Given the description of an element on the screen output the (x, y) to click on. 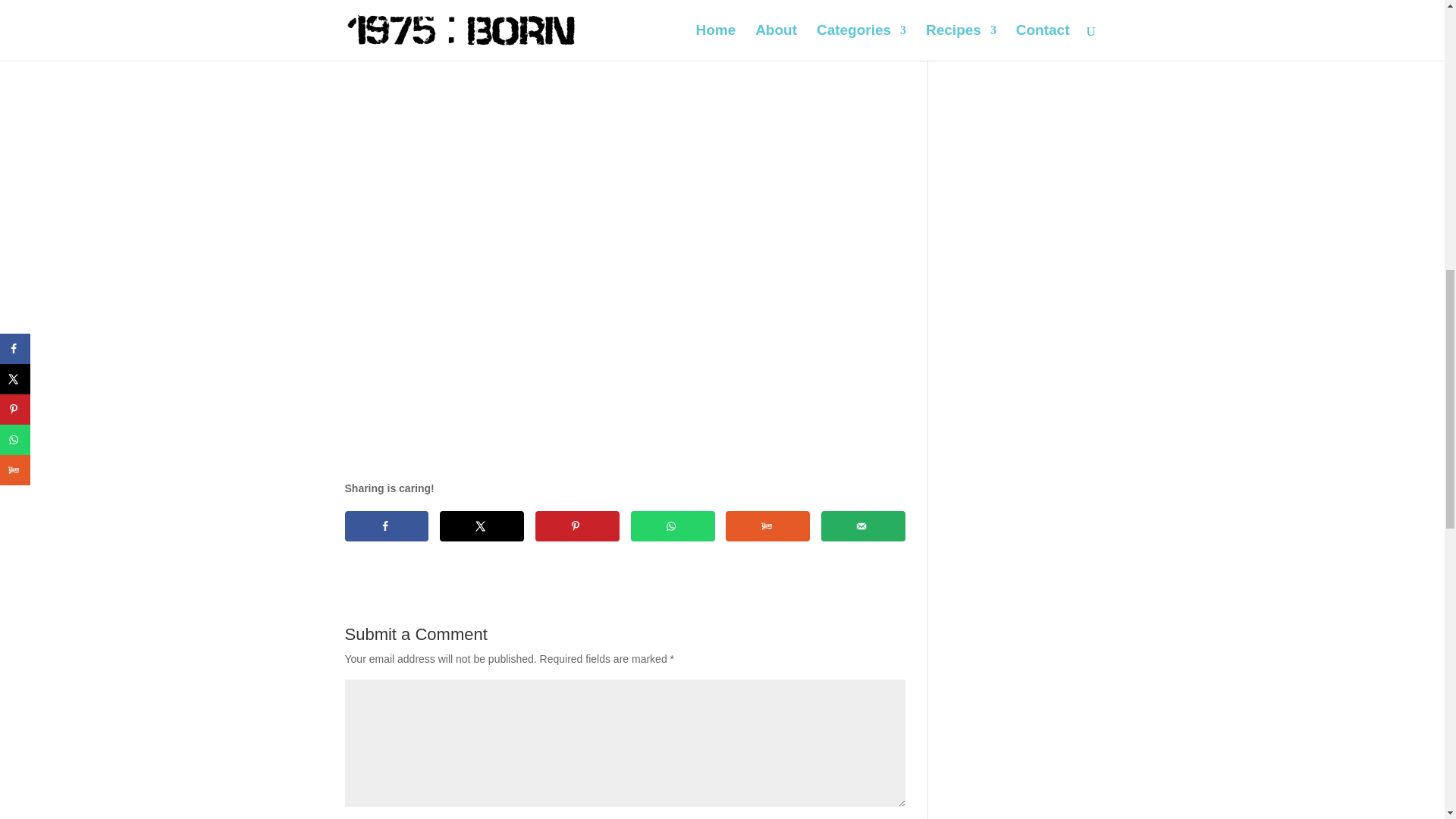
Share on X (481, 526)
Save to Pinterest (577, 526)
Share on Yummly (767, 526)
Share on WhatsApp (672, 526)
Share on Facebook (385, 526)
Send over email (863, 526)
